Given the description of an element on the screen output the (x, y) to click on. 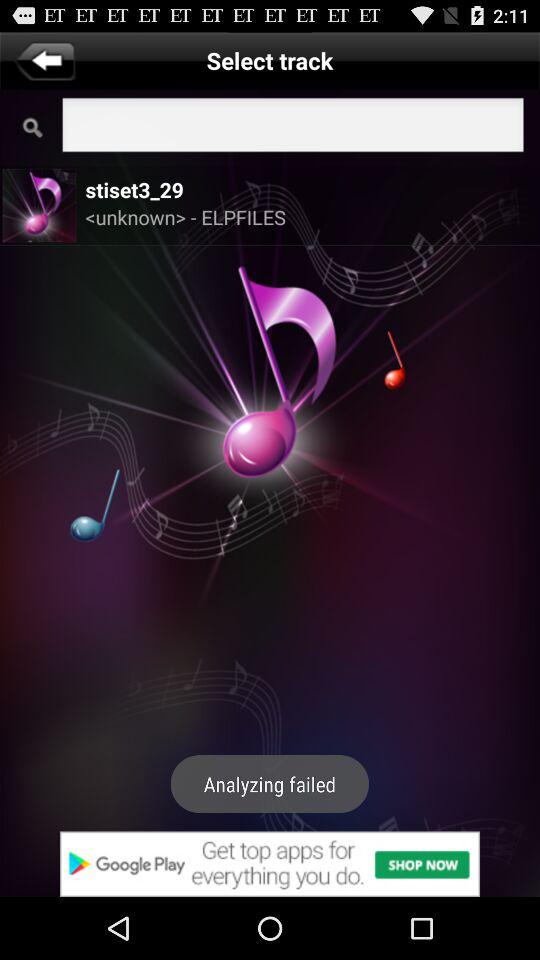
search form (292, 127)
